Given the description of an element on the screen output the (x, y) to click on. 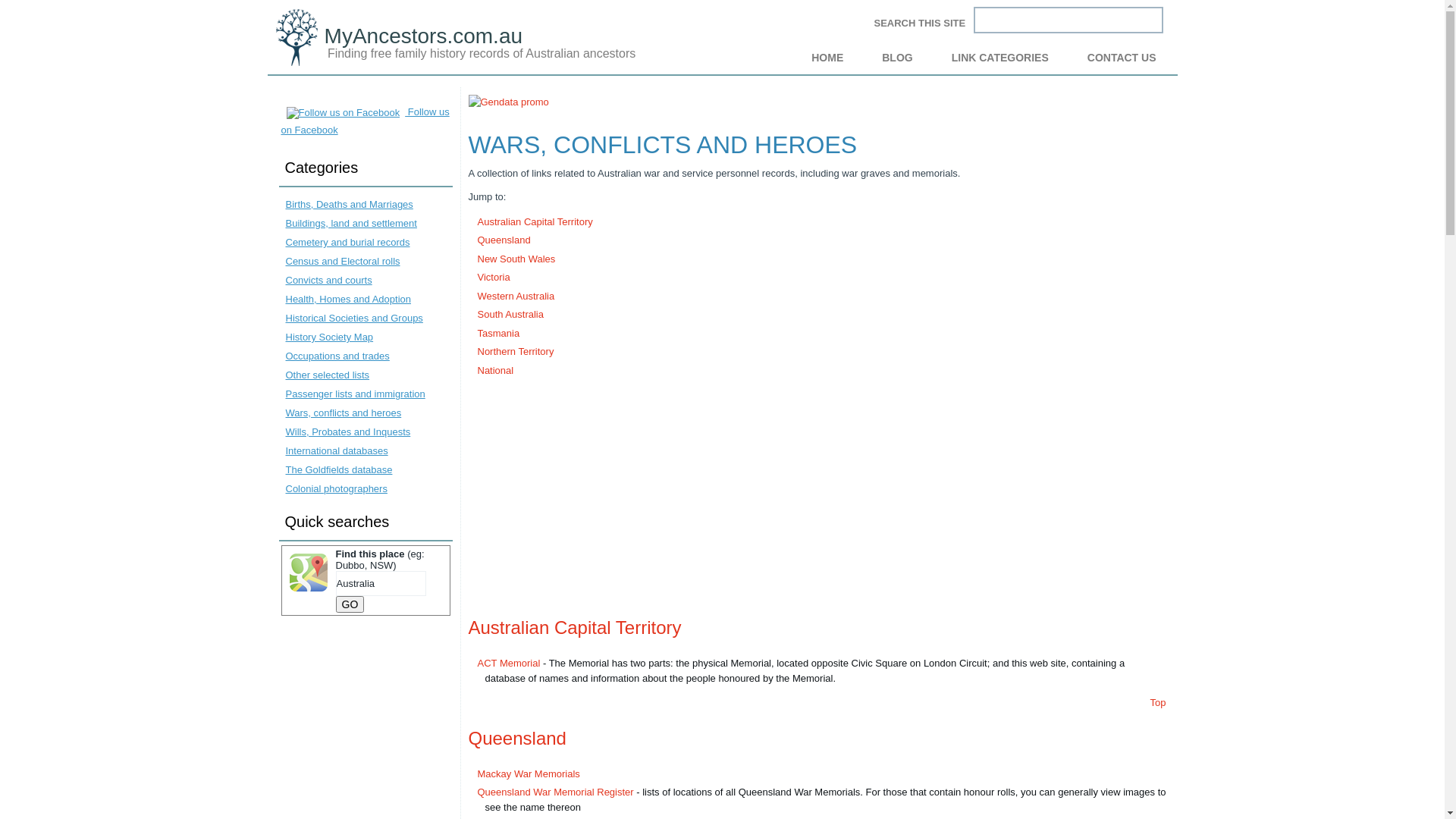
Other selected lists Element type: text (327, 374)
Follow us on Facebook Element type: text (364, 120)
Buildings, land and settlement Element type: text (350, 223)
Cemetery and burial records Element type: text (347, 241)
Gendata promo Element type: hover (508, 101)
The Goldfields database Element type: text (338, 469)
Western Australia Element type: text (516, 295)
Tasmania Element type: text (498, 332)
ACT Memorial Element type: text (508, 662)
History Society Map Element type: text (329, 336)
MyAncestors.com.au Element type: text (423, 35)
Census and Electoral rolls Element type: text (342, 260)
Victoria Element type: text (493, 276)
Health, Homes and Adoption Element type: text (348, 298)
Go Element type: text (349, 604)
CONTACT US Element type: text (1121, 57)
National Element type: text (495, 369)
HOME Element type: text (826, 57)
Wars, conflicts and heroes Element type: text (343, 412)
Queensland Element type: text (517, 738)
Top Element type: text (1158, 702)
Colonial photographers Element type: text (335, 488)
International databases Element type: text (336, 450)
Wills, Probates and Inquests Element type: text (347, 431)
Australian Capital Territory Element type: text (535, 220)
Advertisement Element type: hover (817, 493)
Convicts and courts Element type: text (328, 279)
Australian Capital Territory Element type: text (574, 627)
South Australia Element type: text (510, 314)
WARS, CONFLICTS AND HEROES Element type: text (662, 143)
LINK CATEGORIES Element type: text (1000, 57)
Queensland Element type: text (503, 239)
Historical Societies and Groups Element type: text (353, 317)
Queensland War Memorial Register Element type: text (555, 791)
BLOG Element type: text (896, 57)
Northern Territory Element type: text (515, 351)
Mackay War Memorials Element type: text (528, 772)
Births, Deaths and Marriages Element type: text (348, 204)
New South Wales Element type: text (516, 258)
Passenger lists and immigration Element type: text (354, 393)
Occupations and trades Element type: text (337, 355)
